Given the description of an element on the screen output the (x, y) to click on. 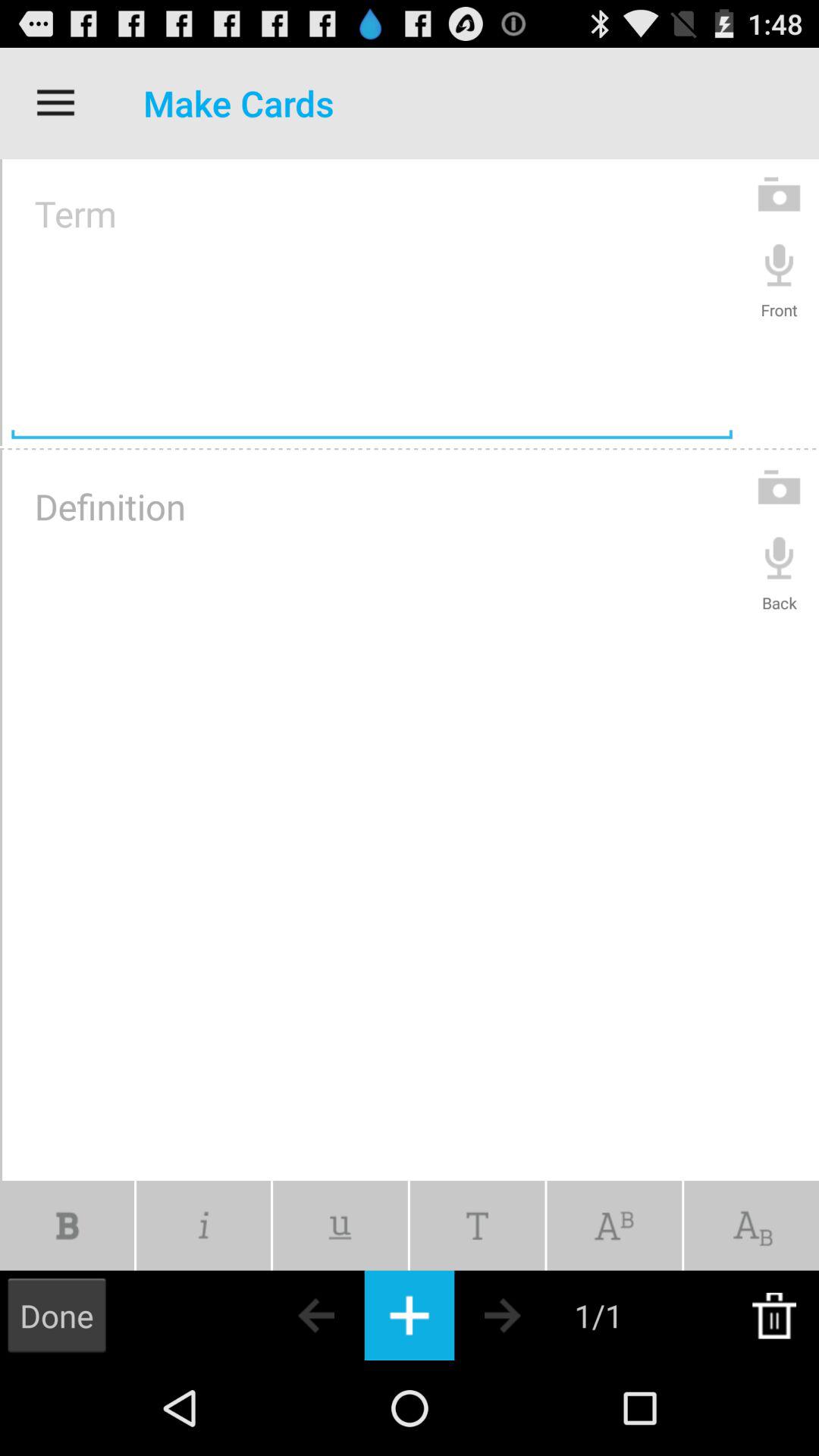
go to next (529, 1315)
